Given the description of an element on the screen output the (x, y) to click on. 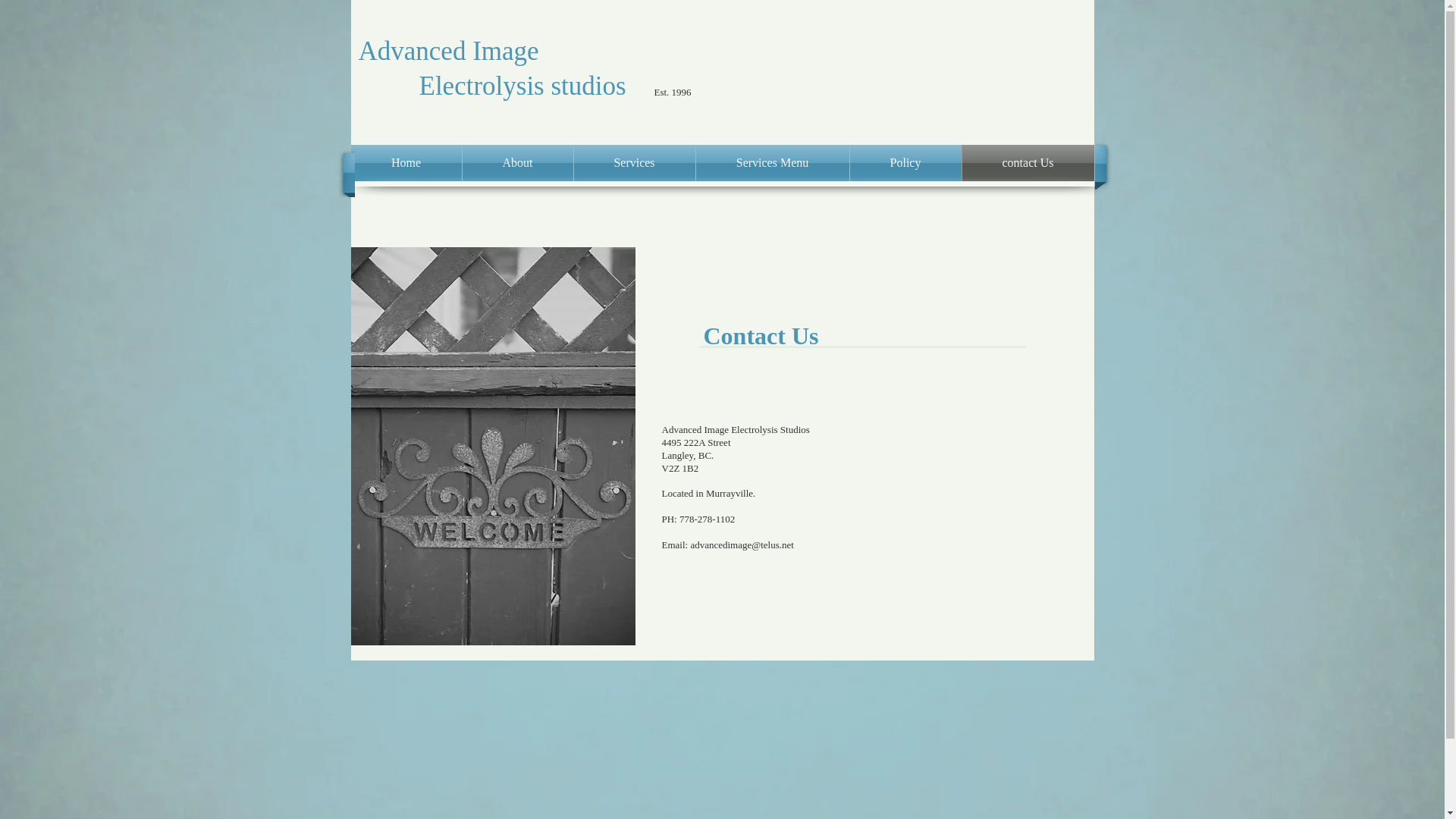
Home Element type: text (405, 162)
Google Maps Element type: hover (978, 506)
contact Us Element type: text (1027, 162)
advancedimage@telus.net Element type: text (741, 544)
Services Element type: text (633, 162)
About Element type: text (517, 162)
Policy Element type: text (904, 162)
Services Menu Element type: text (772, 162)
